Given the description of an element on the screen output the (x, y) to click on. 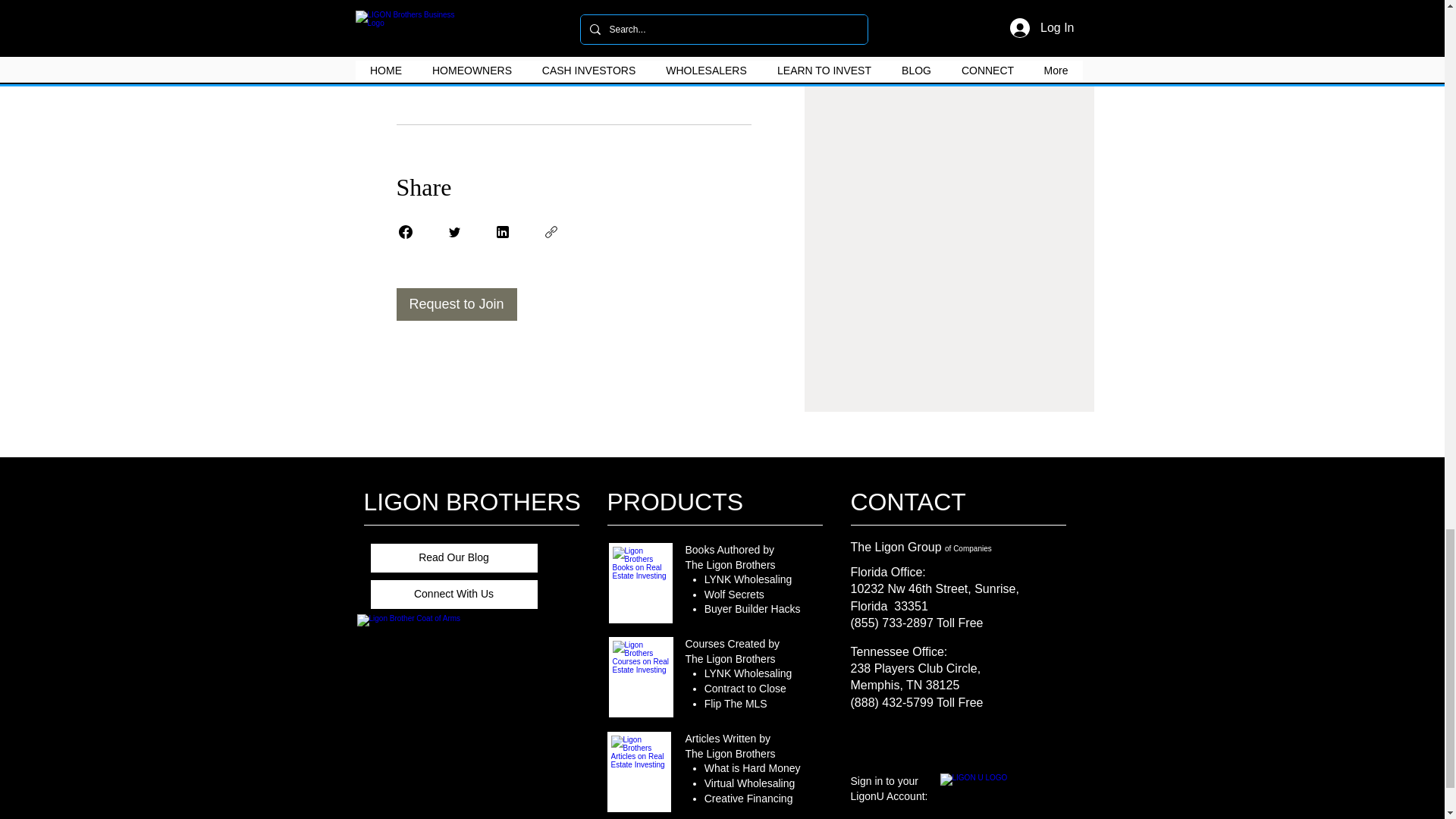
LYNK Wholesaling (748, 579)
Wolf Secrets (734, 594)
Ligon Crest (452, 715)
of Companies (967, 548)
LigonU Log-In (994, 788)
The Ligon Group (897, 546)
Read Our Blog (453, 557)
Flip The MLS (735, 703)
Request to Join (456, 304)
Connect With Us (453, 594)
LYNK Wholesaling (748, 673)
Buyer Builder Hacks (752, 608)
Virtual Wholesaling (749, 783)
Creative Financing (748, 798)
